Given the description of an element on the screen output the (x, y) to click on. 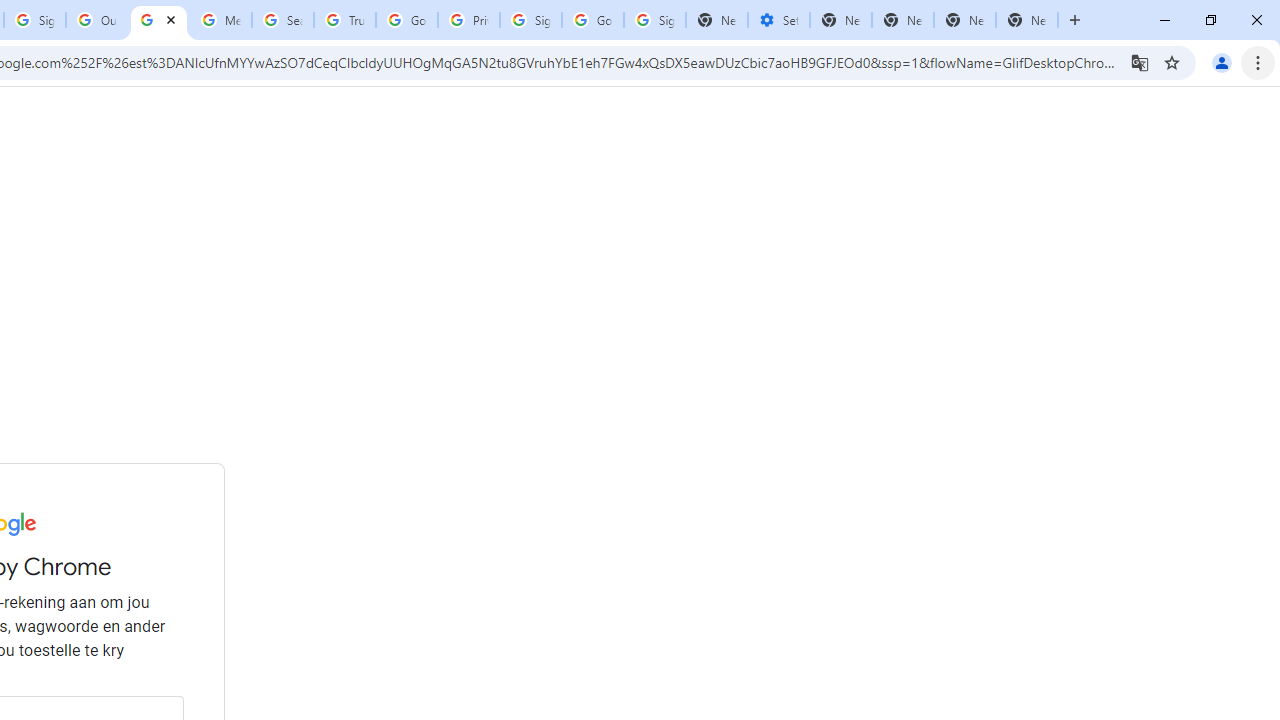
Google Cybersecurity Innovations - Google Safety Center (592, 20)
Sign in - Google Accounts (530, 20)
Translate this page (1139, 62)
New Tab (964, 20)
